Given the description of an element on the screen output the (x, y) to click on. 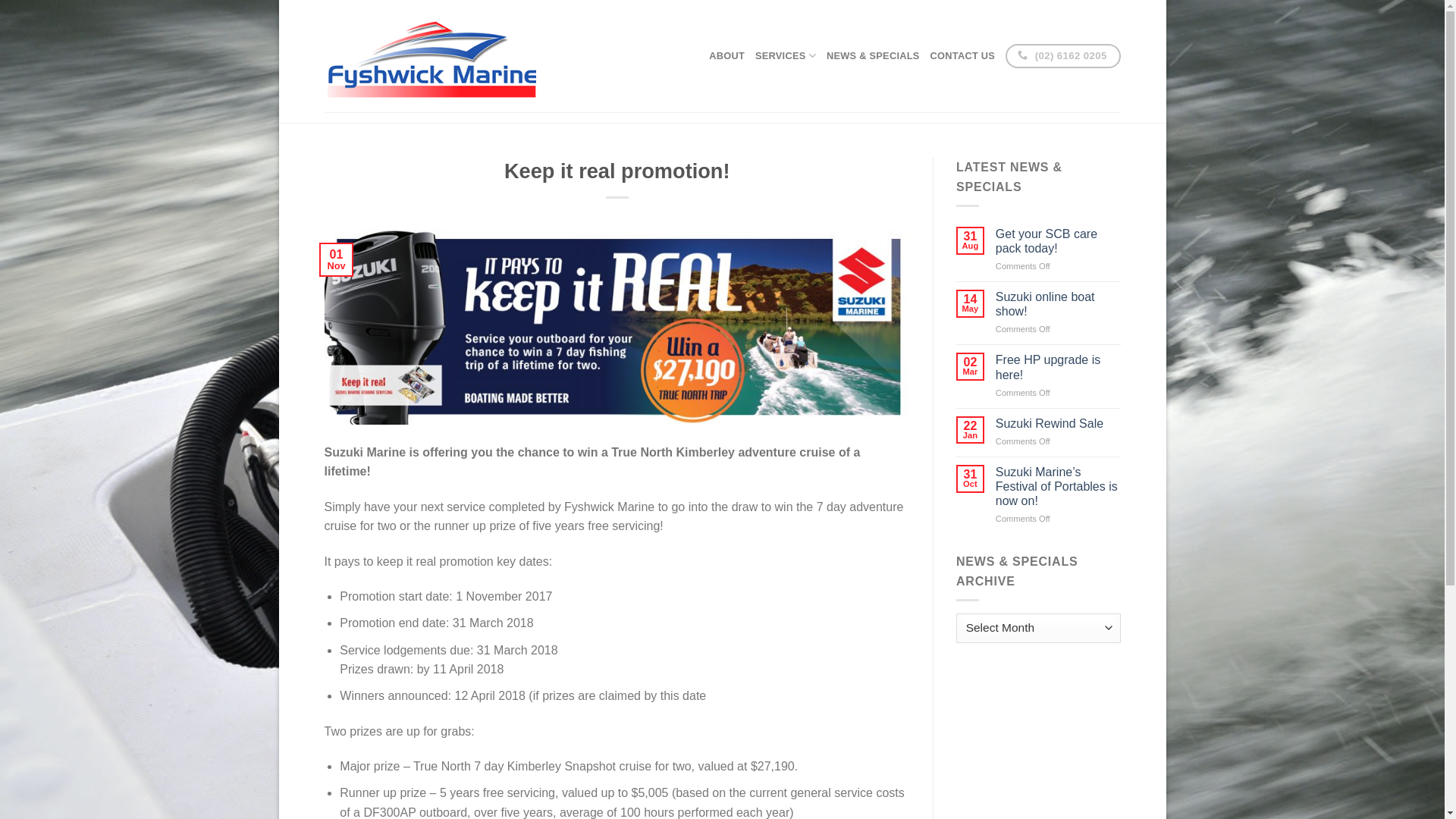
Free HP upgrade is here! Element type: text (1057, 366)
(02) 6162 0205 Element type: text (1062, 56)
Suzuki Rewind Sale Element type: text (1057, 423)
NEWS & SPECIALS Element type: text (872, 55)
SERVICES Element type: text (785, 55)
ABOUT Element type: text (726, 55)
CONTACT US Element type: text (962, 55)
Suzuki online boat show! Element type: text (1057, 303)
Get your SCB care pack today! Element type: text (1057, 240)
